Given the description of an element on the screen output the (x, y) to click on. 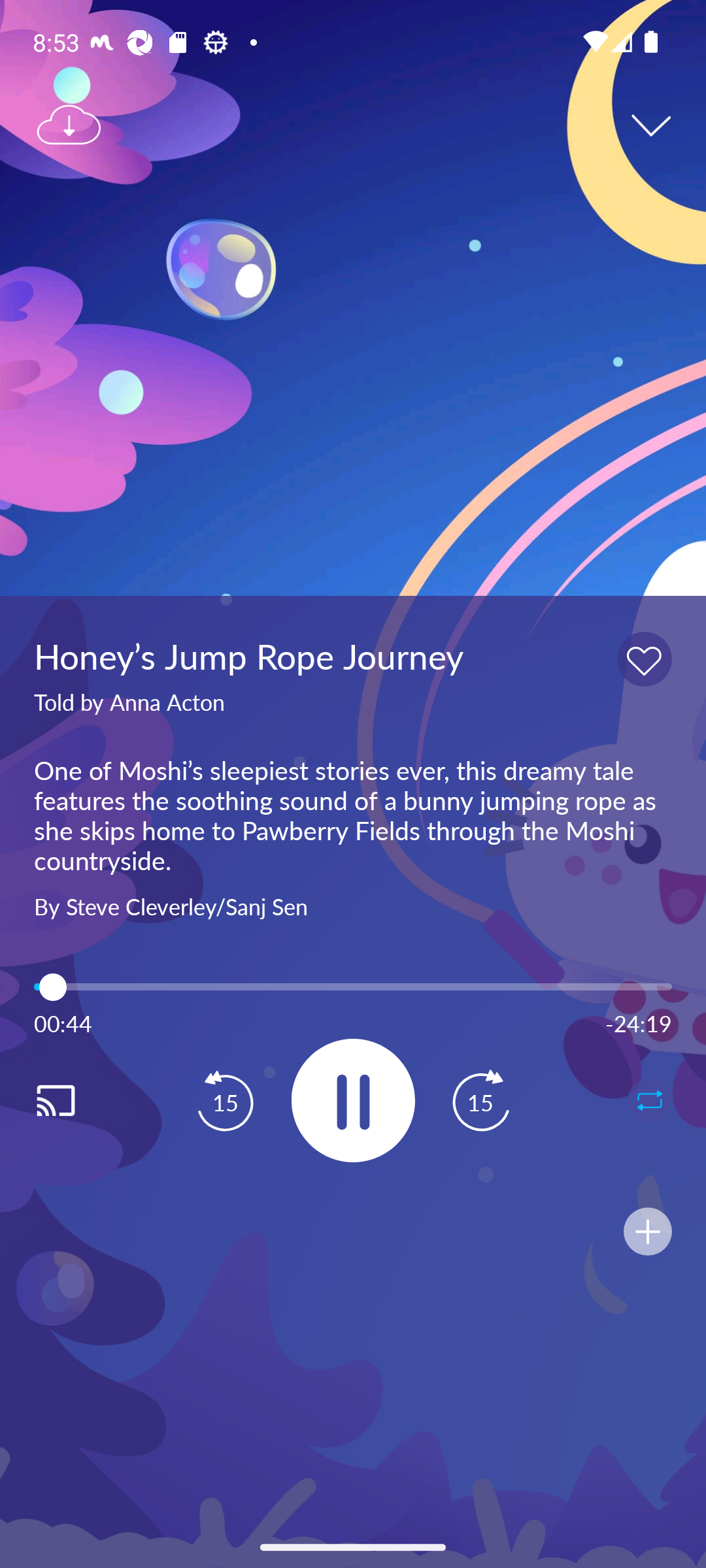
44.0 (352, 986)
Cast. Disconnected (76, 1100)
